Given the description of an element on the screen output the (x, y) to click on. 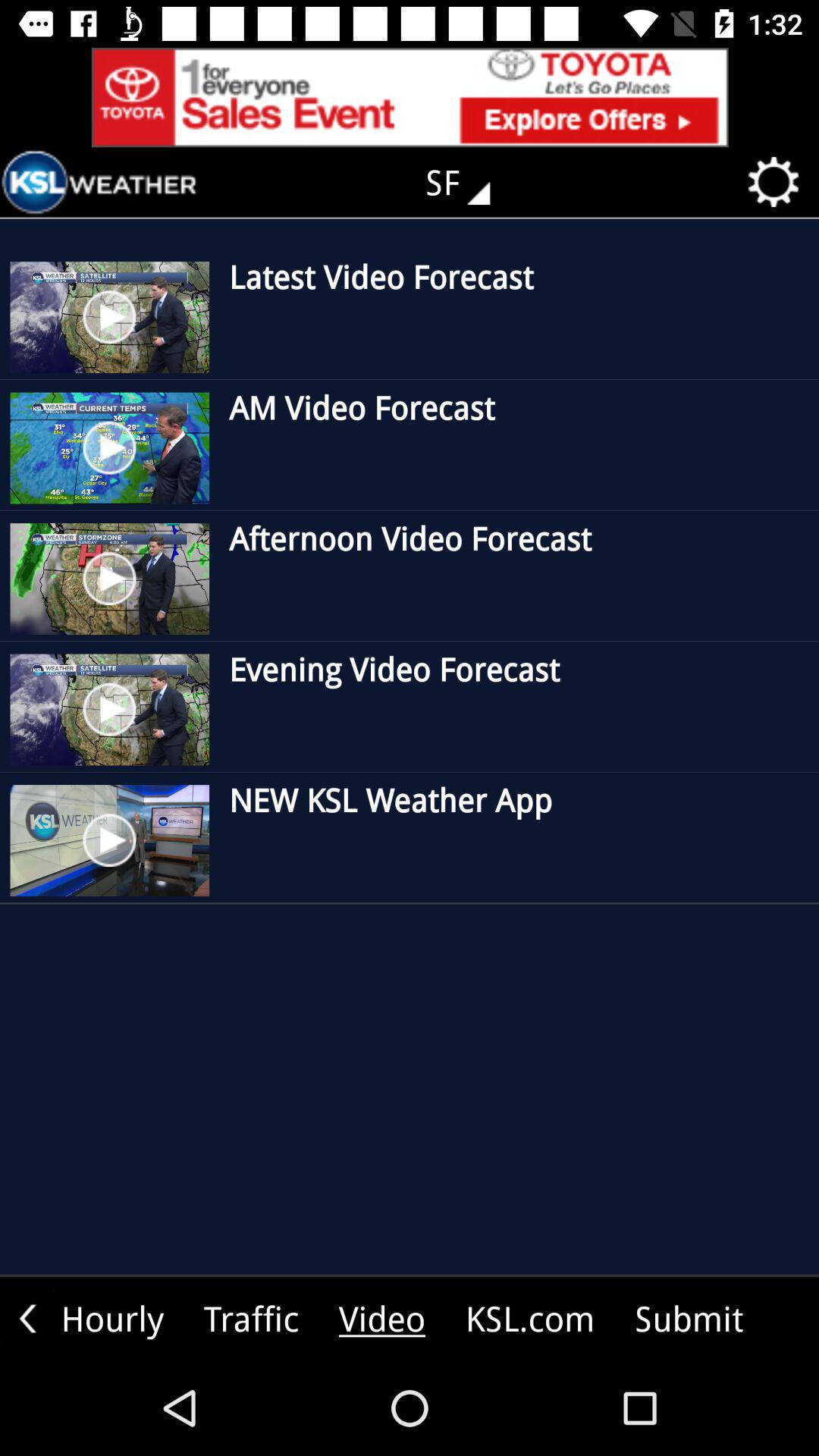
go to url (409, 97)
